Given the description of an element on the screen output the (x, y) to click on. 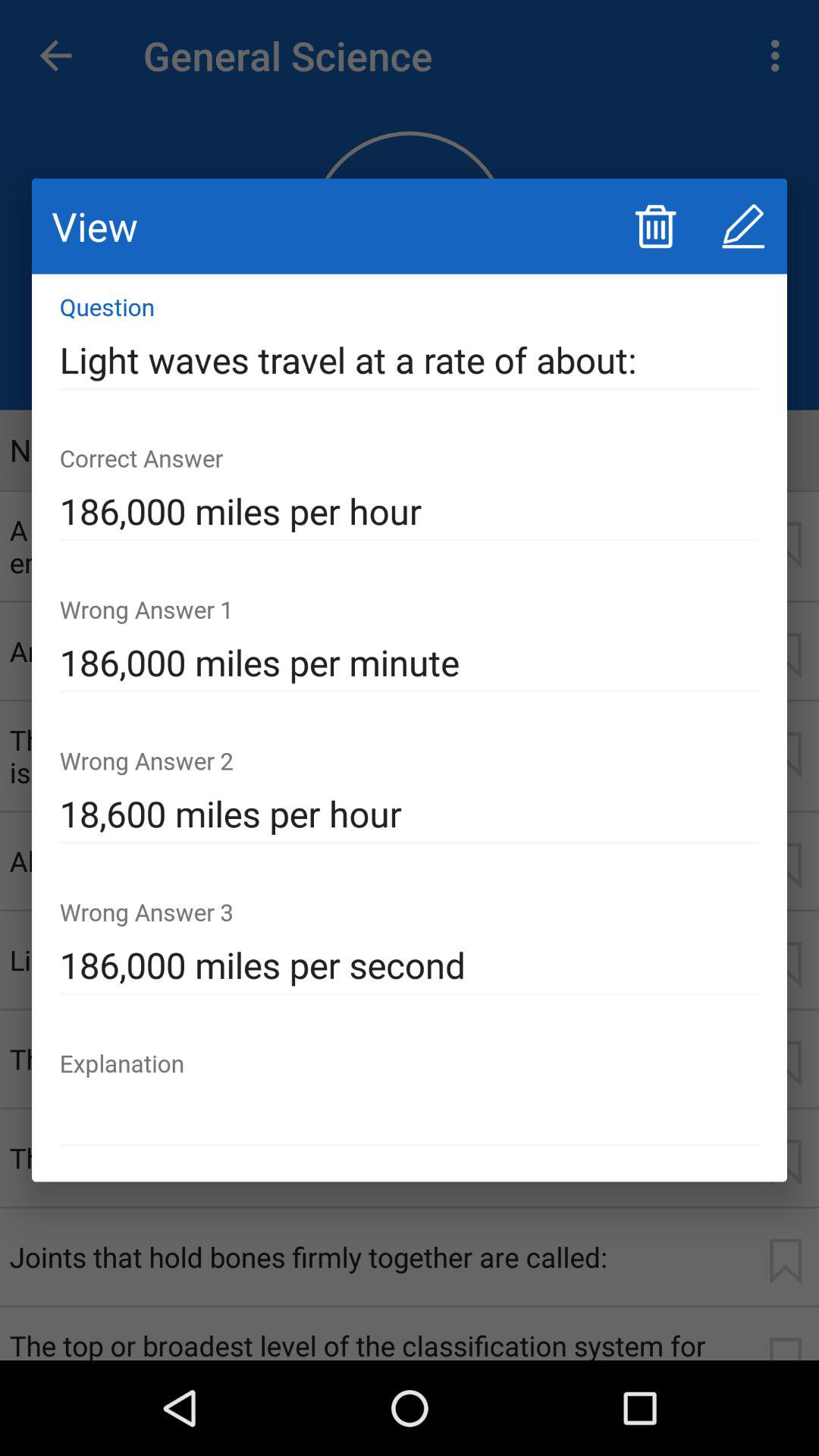
flip until the 18 600 miles icon (409, 814)
